Given the description of an element on the screen output the (x, y) to click on. 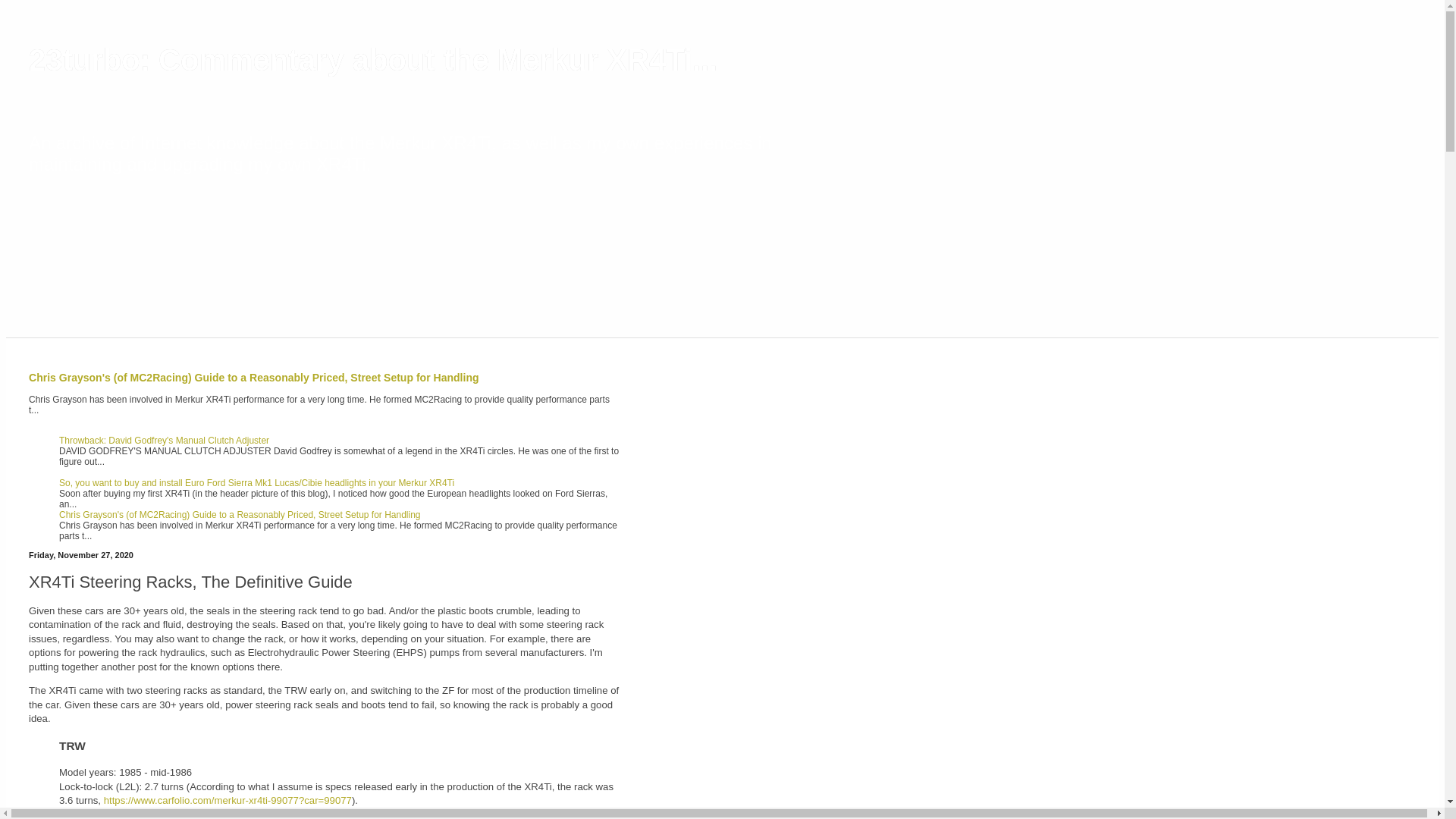
23turbo: Commentary about the Merkur XR4Ti... Element type: text (372, 59)
https://www.carfolio.com/merkur-xr4ti-99077?car=99077 Element type: text (227, 800)
Throwback: David Godfrey's Manual Clutch Adjuster Element type: text (164, 440)
